Given the description of an element on the screen output the (x, y) to click on. 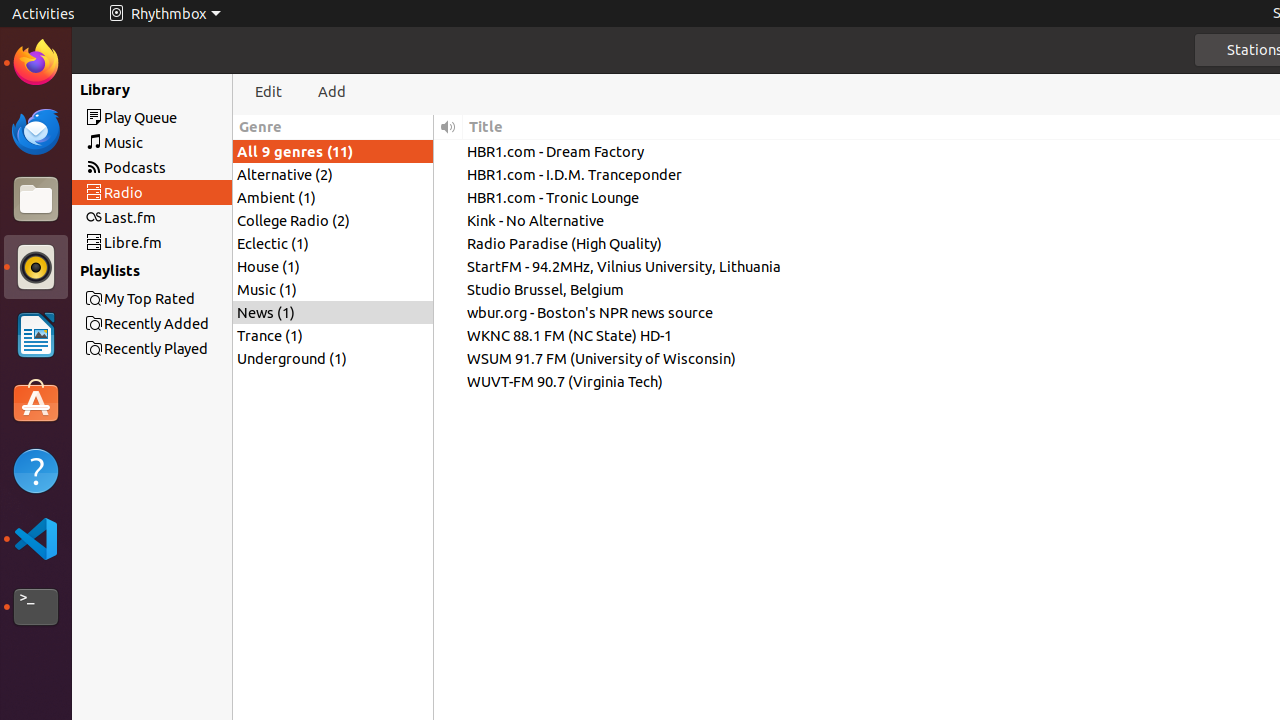
All 9 genres (11) Element type: table-cell (333, 151)
Playlists Element type: table-cell (94, 270)
